Given the description of an element on the screen output the (x, y) to click on. 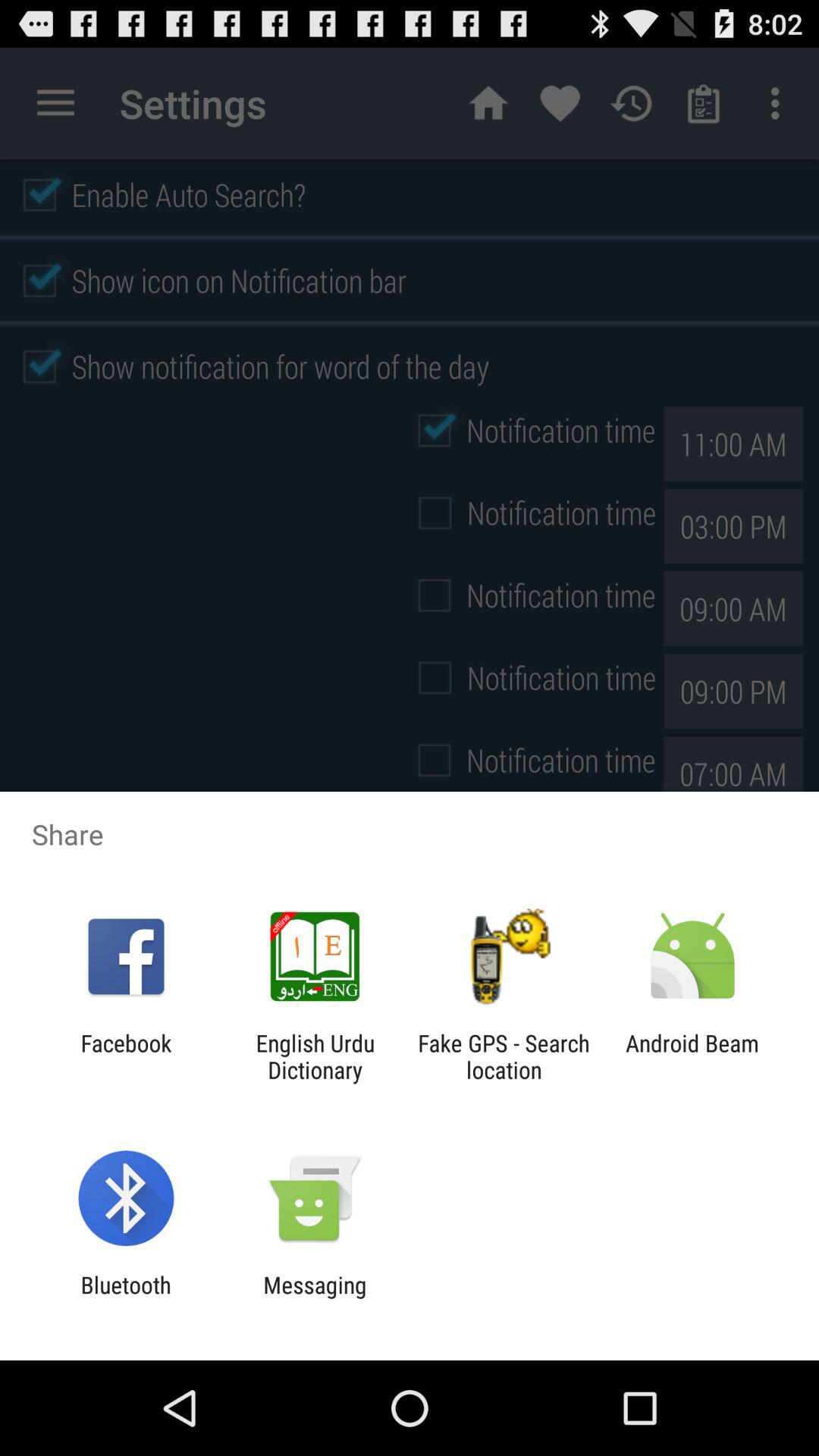
press item to the right of the fake gps search app (692, 1056)
